Given the description of an element on the screen output the (x, y) to click on. 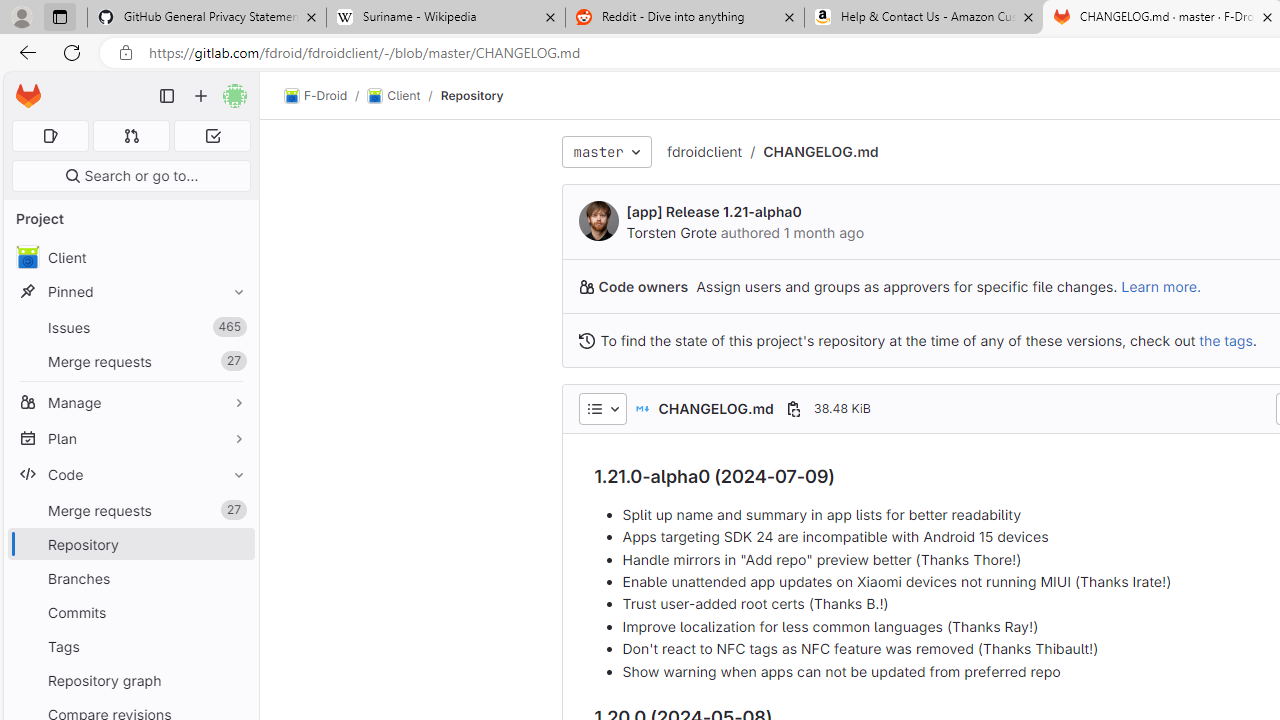
avatar Client (130, 257)
fdroidclient (703, 151)
Merge requests 27 (130, 510)
CHANGELOG.md (820, 151)
To-Do list 0 (212, 136)
F-Droid/ (326, 96)
Pin Branches (234, 578)
Suriname - Wikipedia (445, 17)
the tags (1226, 340)
Issues465 (130, 327)
Copy file path (793, 408)
AutomationID: dropdown-toggle-btn-50 (602, 408)
Pin Repository graph (234, 680)
Repository (472, 95)
